Given the description of an element on the screen output the (x, y) to click on. 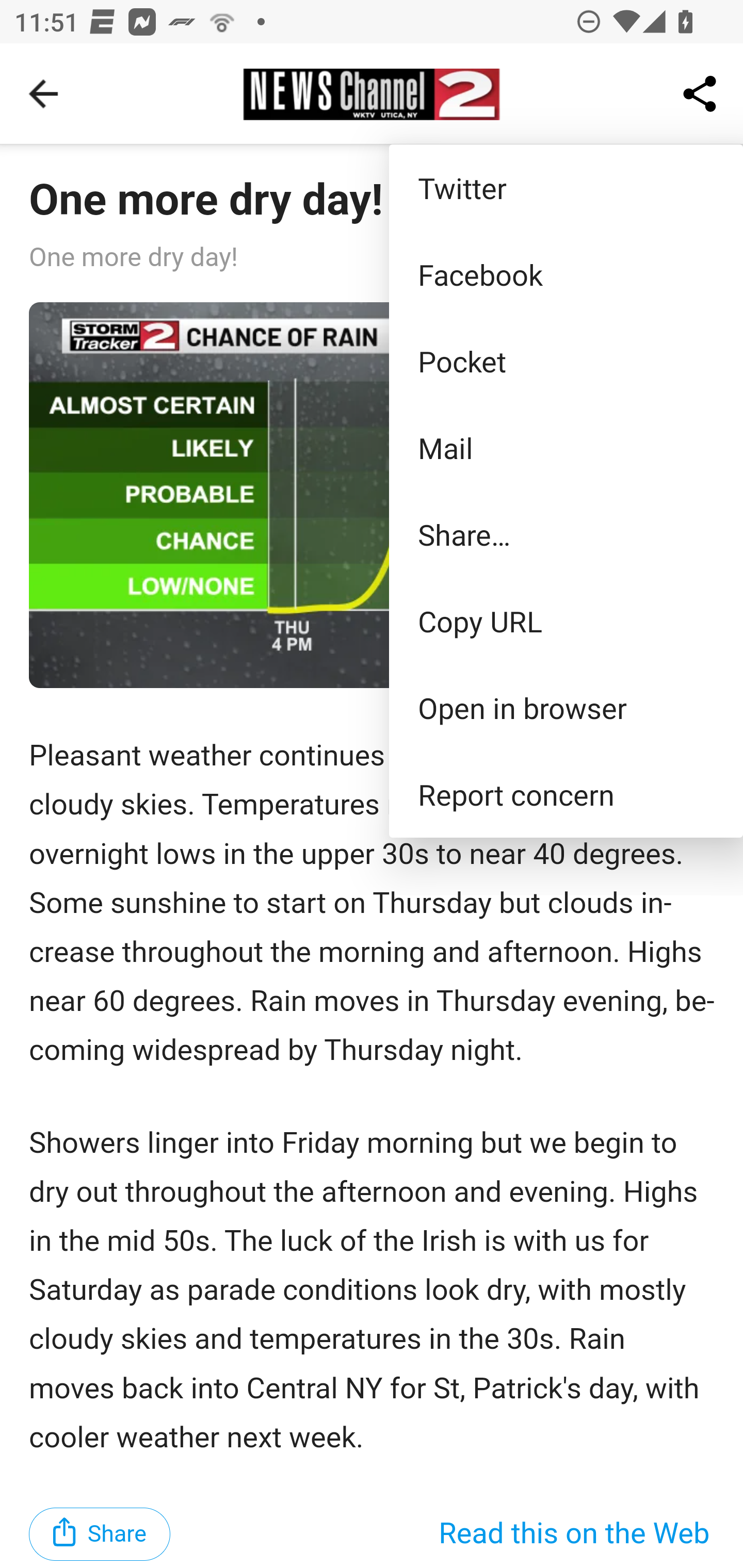
Twitter (566, 187)
Facebook (566, 274)
Pocket (566, 361)
Mail (566, 447)
Share… (566, 533)
Copy URL (566, 620)
Open in browser (566, 707)
Report concern (566, 794)
